Given the description of an element on the screen output the (x, y) to click on. 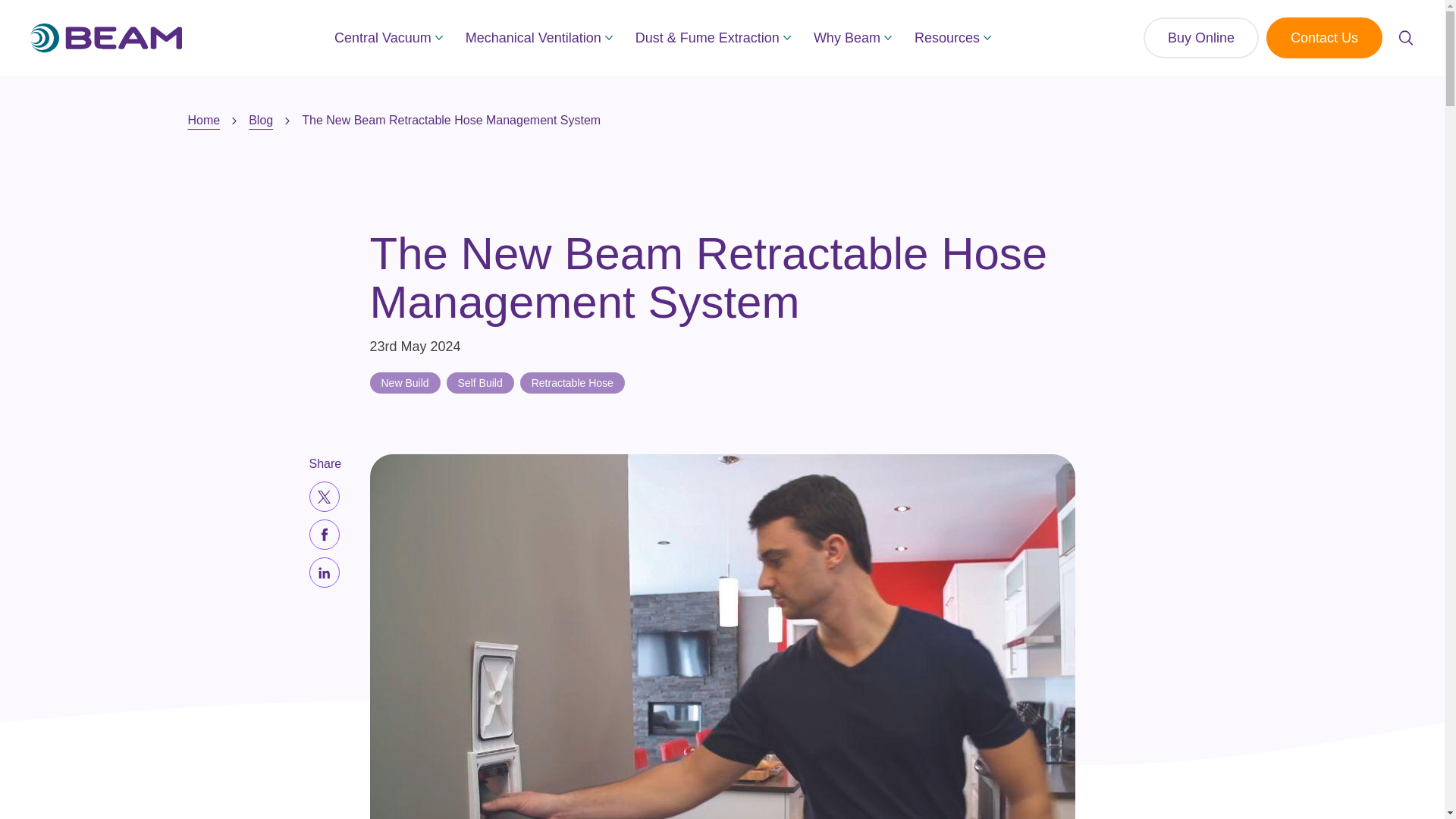
Mechanical Ventilation (538, 37)
Central Vacuum (388, 37)
